Given the description of an element on the screen output the (x, y) to click on. 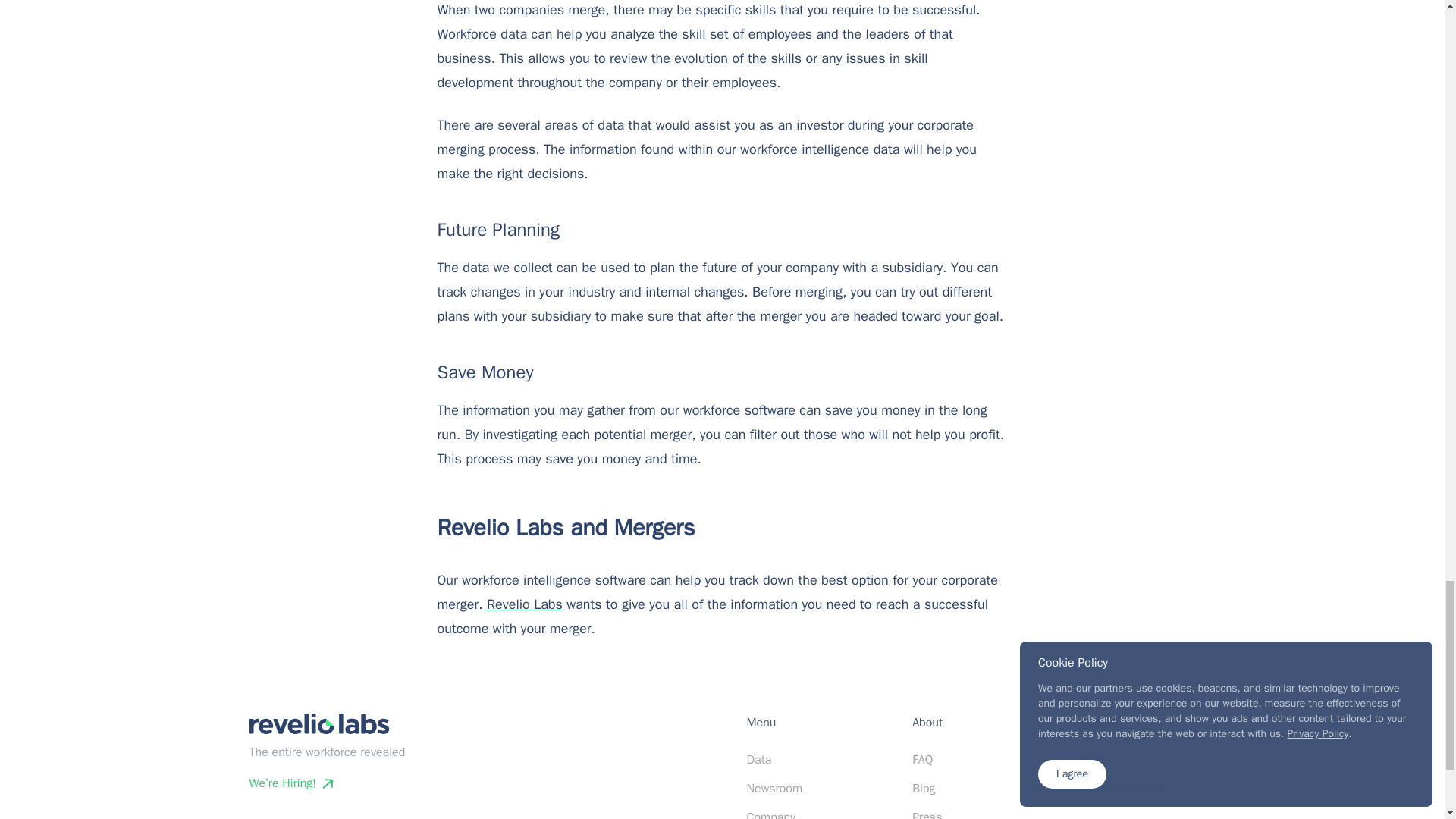
Talk to an Expert (1122, 788)
Email (1092, 759)
Company (769, 814)
Newsroom (773, 788)
Press (927, 814)
Data (758, 759)
Blog (923, 788)
FAQ (922, 759)
Revelio Labs (524, 604)
